Given the description of an element on the screen output the (x, y) to click on. 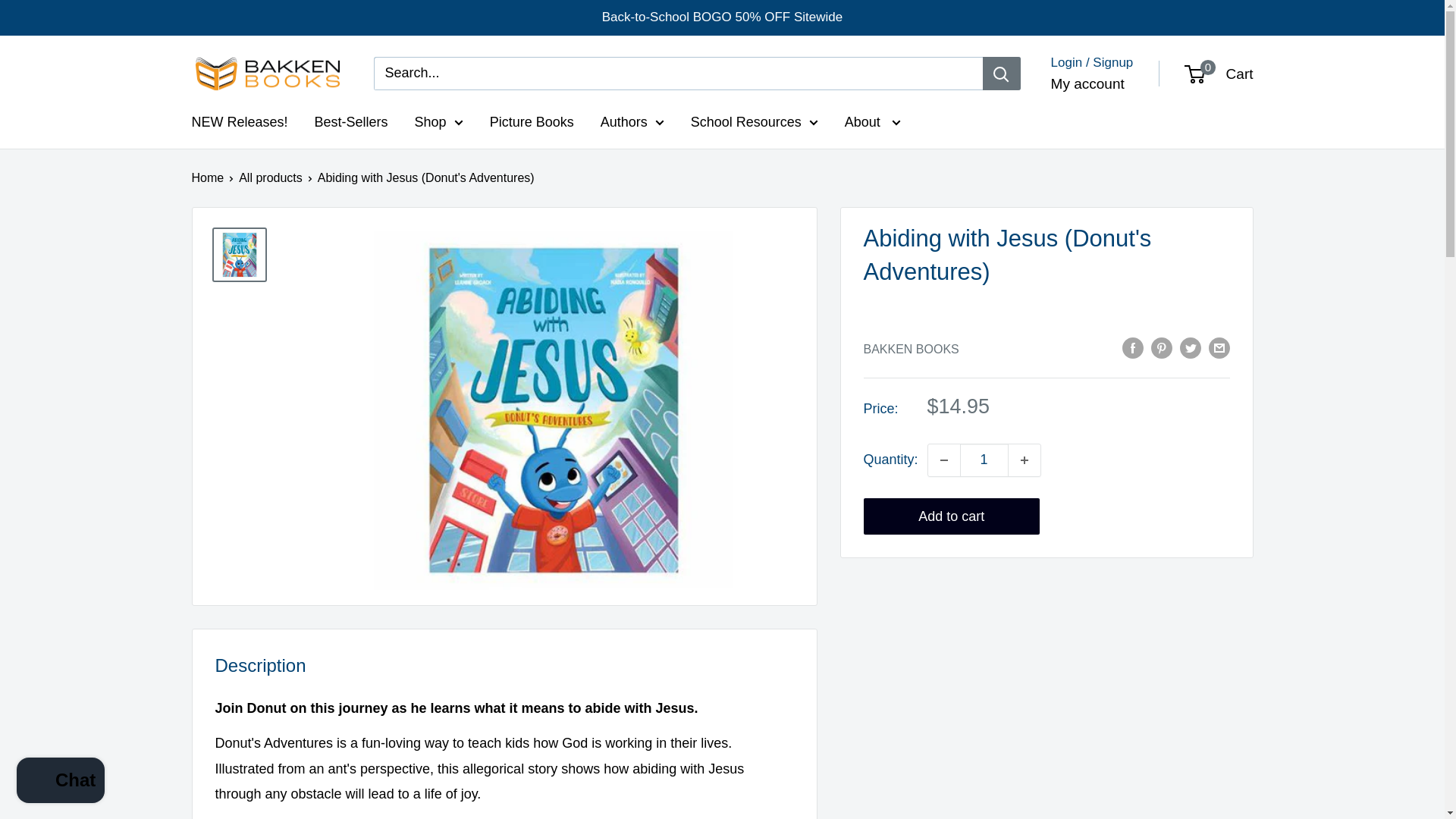
1 (984, 459)
Increase quantity by 1 (1025, 459)
Shopify online store chat (60, 781)
Decrease quantity by 1 (943, 459)
